Given the description of an element on the screen output the (x, y) to click on. 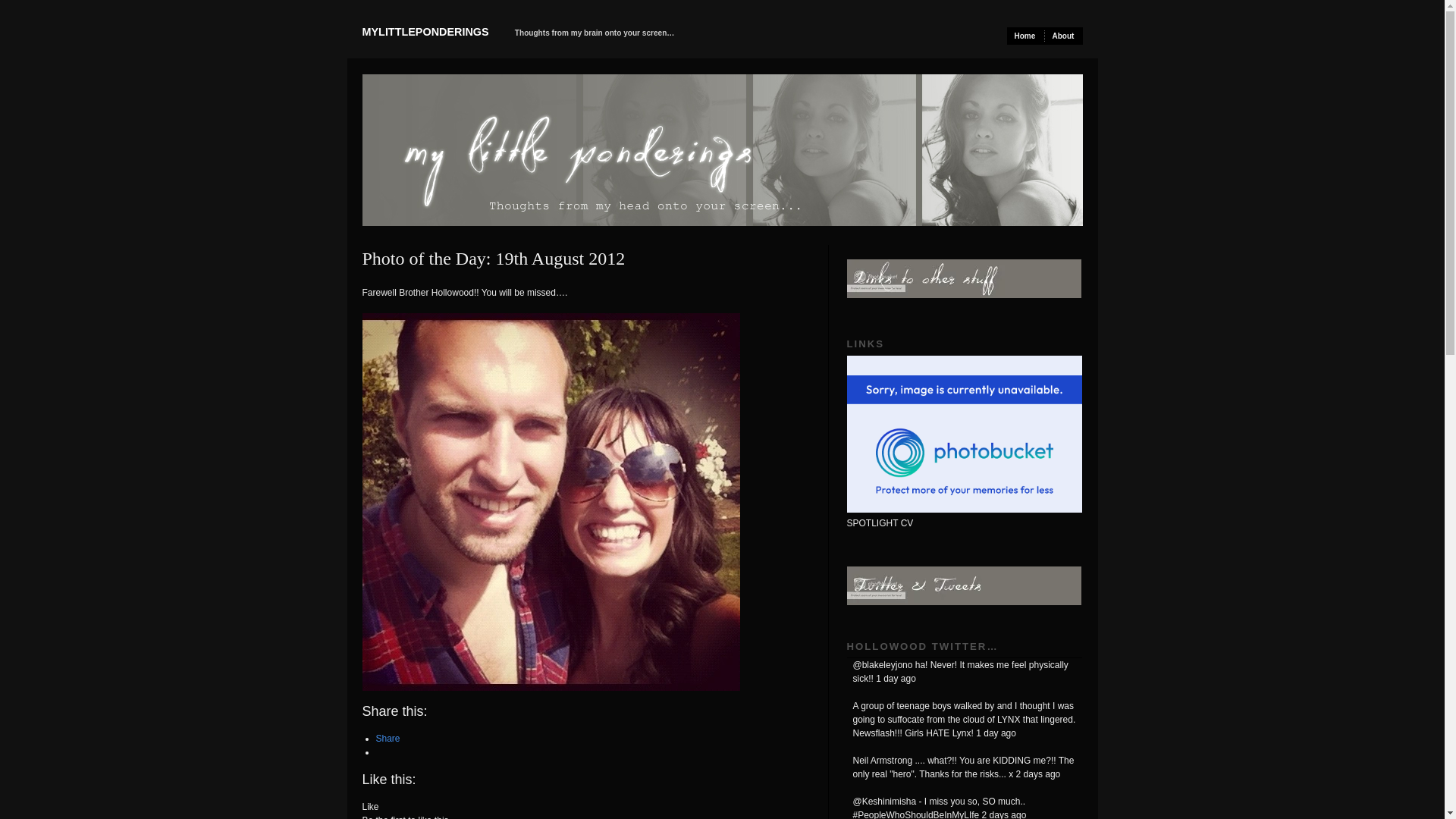
Home (1026, 35)
Share (387, 738)
About (1064, 35)
Kate on Spotlight (963, 433)
Home (425, 31)
MYLITTLEPONDERINGS (425, 31)
Home (1026, 35)
